Given the description of an element on the screen output the (x, y) to click on. 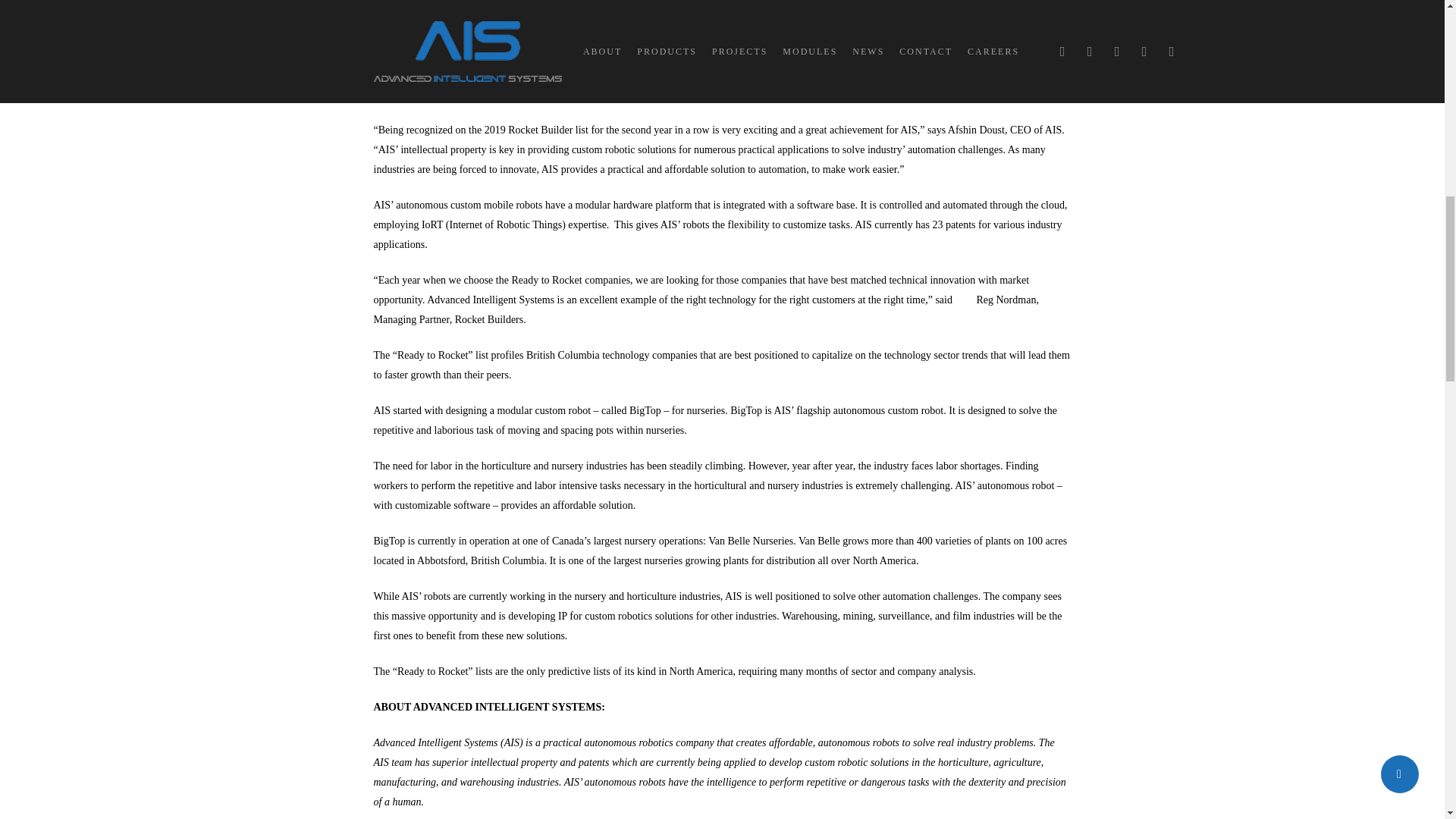
Advanced Intelligent Systems (518, 19)
